Given the description of an element on the screen output the (x, y) to click on. 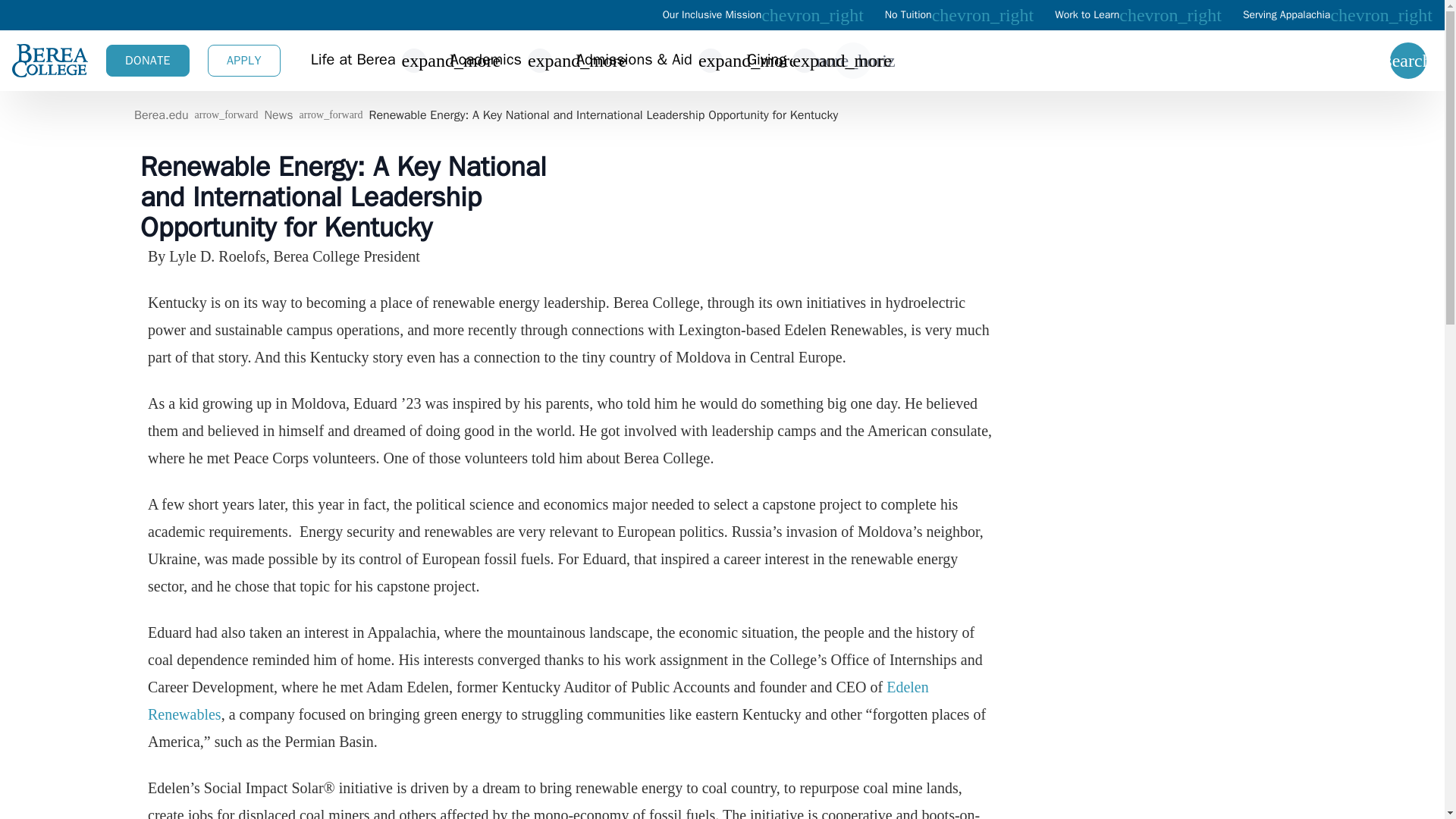
search (1408, 60)
Edelen Renewables (537, 700)
Life at Berea (353, 60)
Academics (485, 60)
Giving (766, 60)
DONATE (147, 60)
News (277, 115)
APPLY (244, 60)
Berea.edu (160, 115)
Berea College - (49, 60)
